Given the description of an element on the screen output the (x, y) to click on. 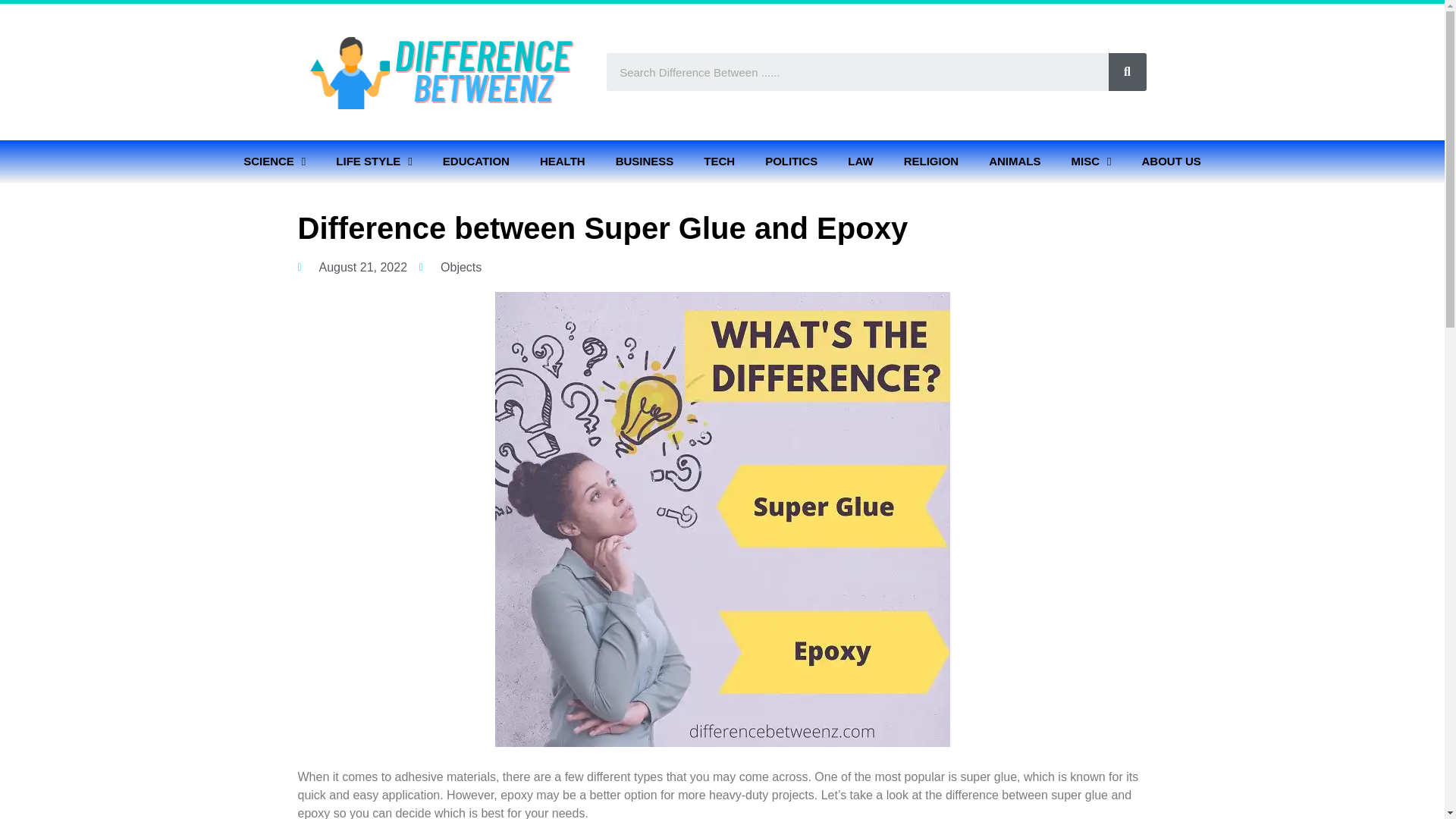
POLITICS (790, 161)
EDUCATION (476, 161)
SCIENCE (274, 161)
MISC (1090, 161)
Search (1127, 71)
HEALTH (561, 161)
RELIGION (931, 161)
Search (857, 71)
TECH (718, 161)
LAW (860, 161)
ANIMALS (1014, 161)
ABOUT US (1170, 161)
BUSINESS (643, 161)
LIFE STYLE (374, 161)
